Given the description of an element on the screen output the (x, y) to click on. 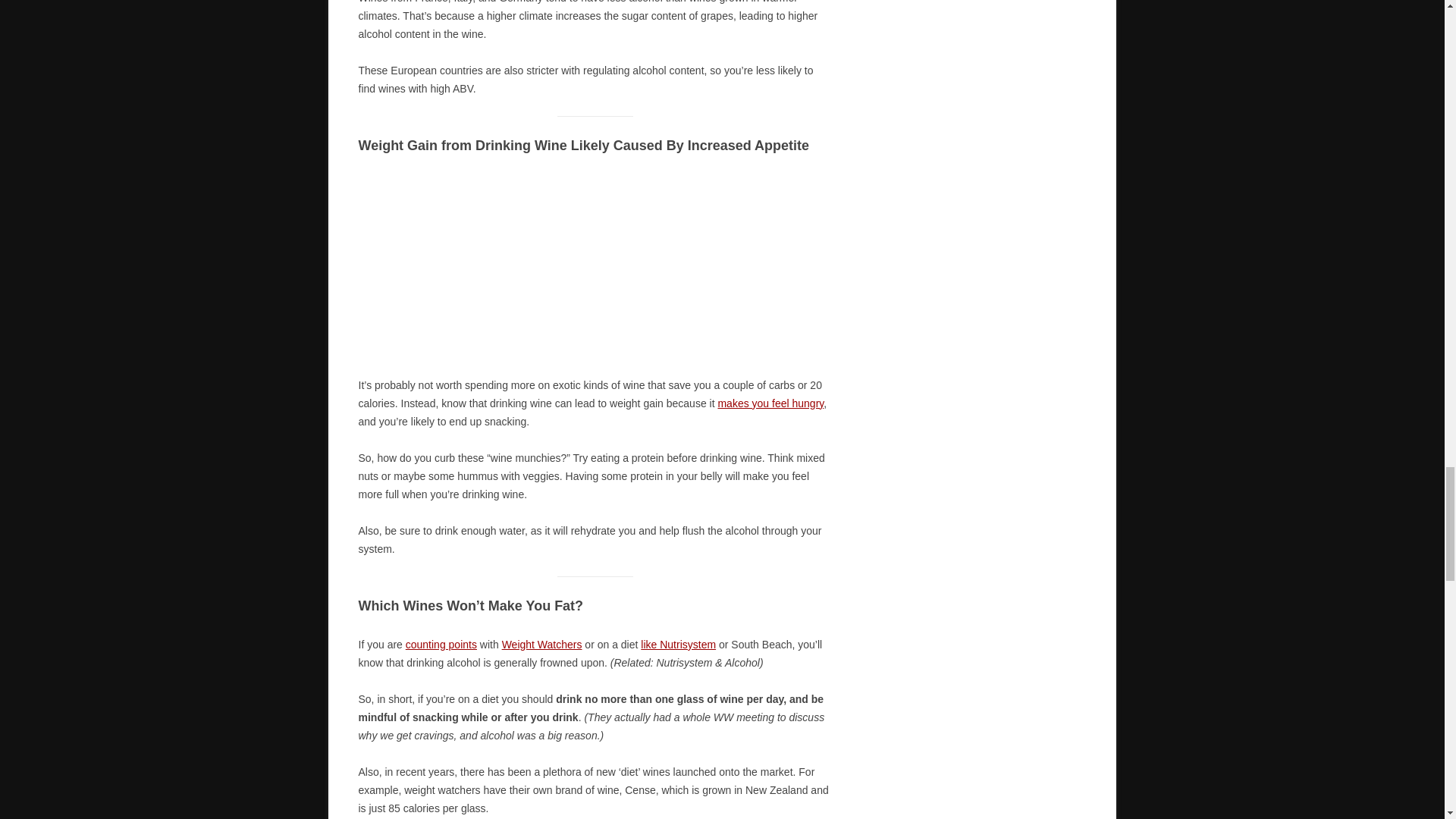
like Nutrisystem (678, 644)
makes you feel hungry (770, 403)
counting points (441, 644)
Weight Watchers (542, 644)
